Given the description of an element on the screen output the (x, y) to click on. 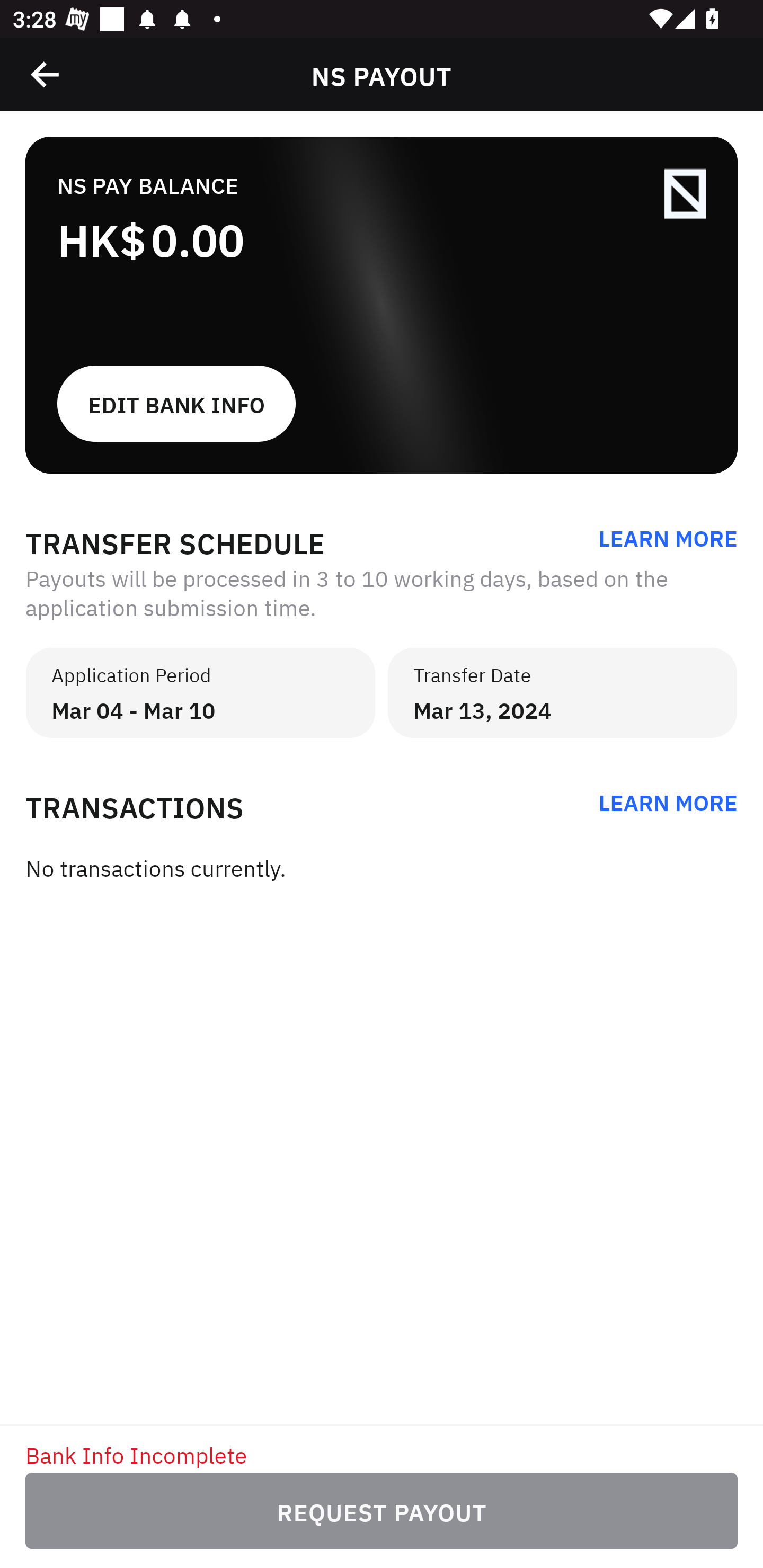
 (46, 74)
EDIT BANK INFO (381, 403)
REQUEST PAYOUT (381, 1510)
